Given the description of an element on the screen output the (x, y) to click on. 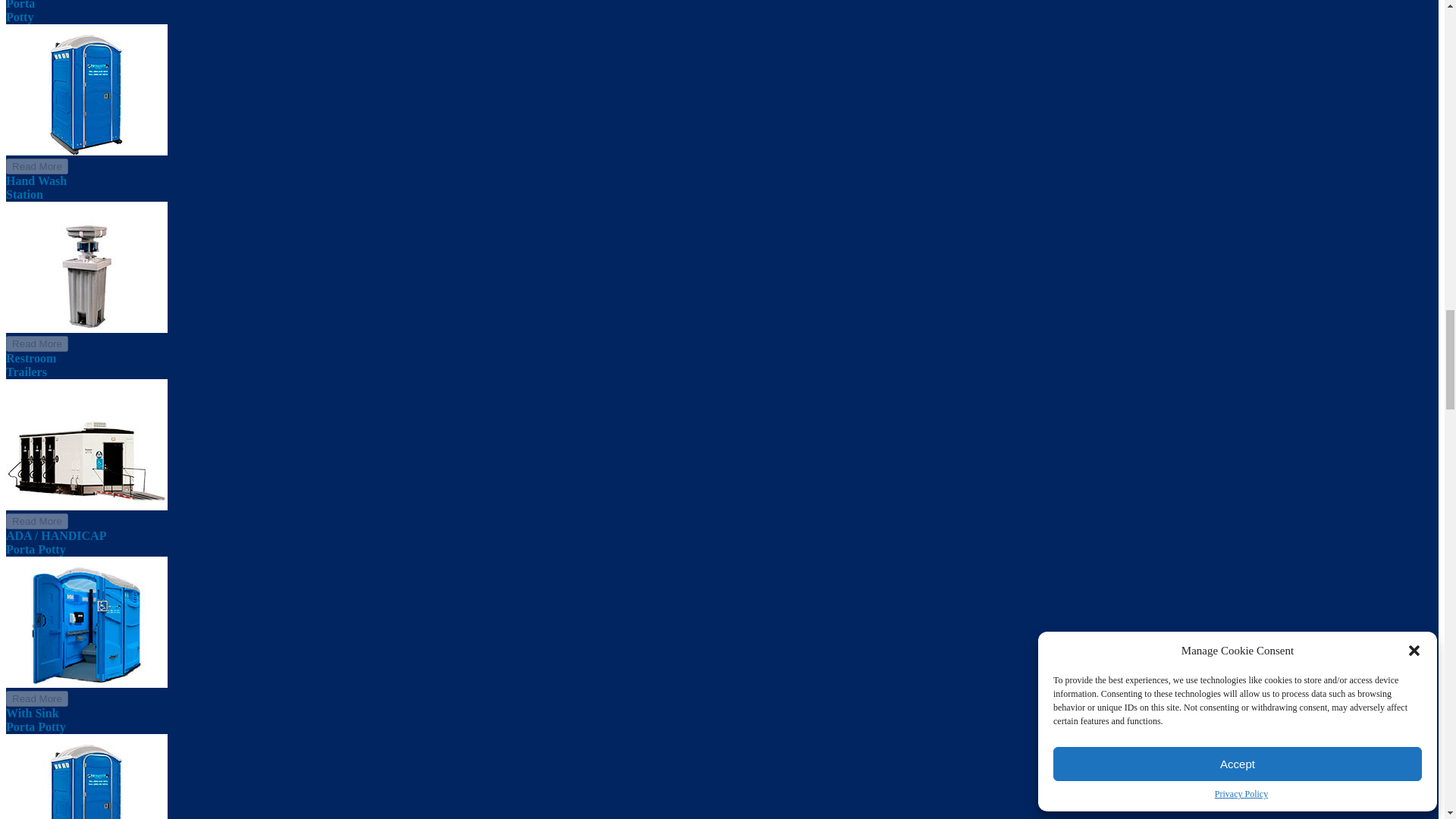
Read More (36, 166)
Read More (36, 164)
